Given the description of an element on the screen output the (x, y) to click on. 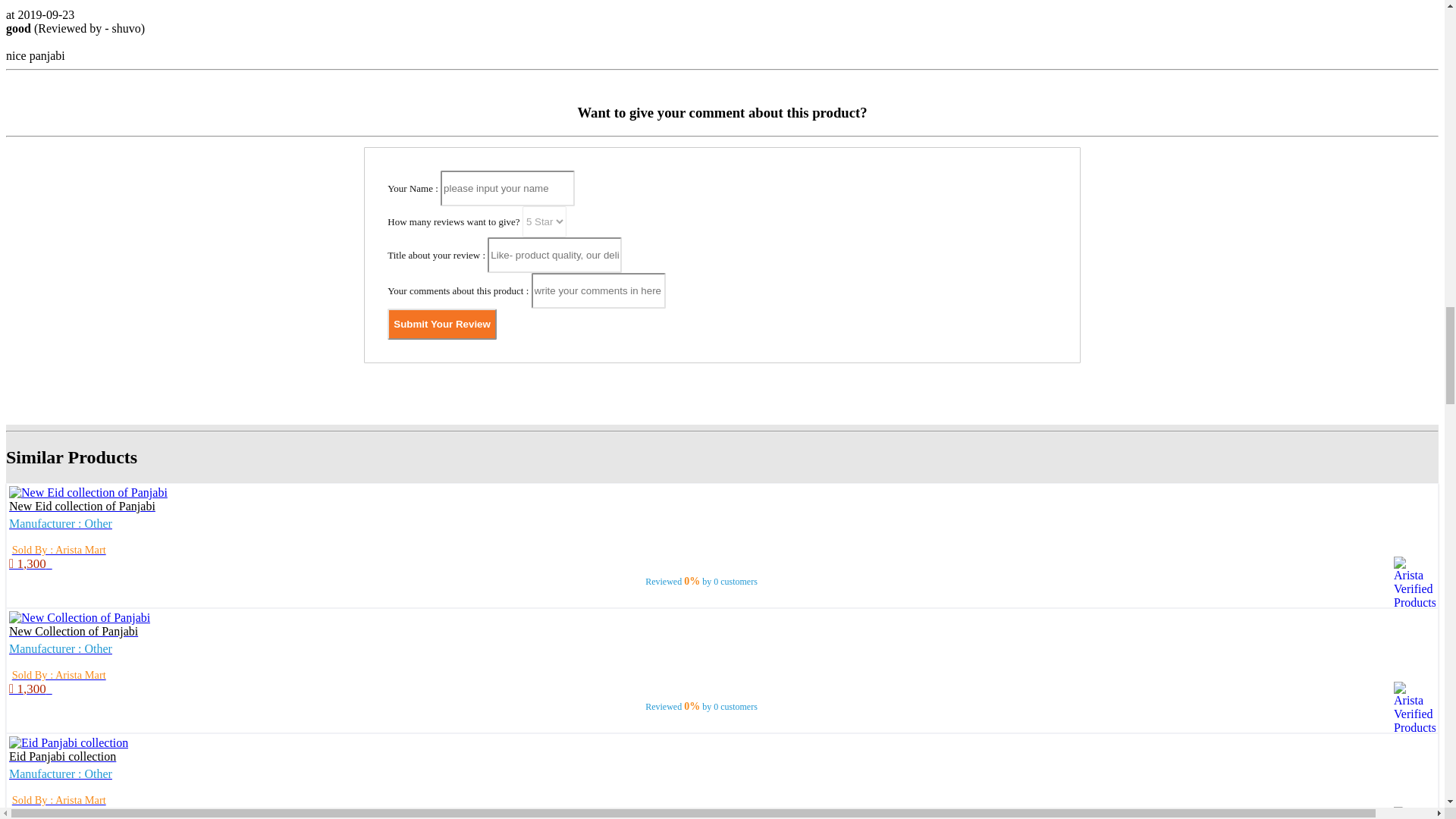
Submit Your Review (441, 323)
